Given the description of an element on the screen output the (x, y) to click on. 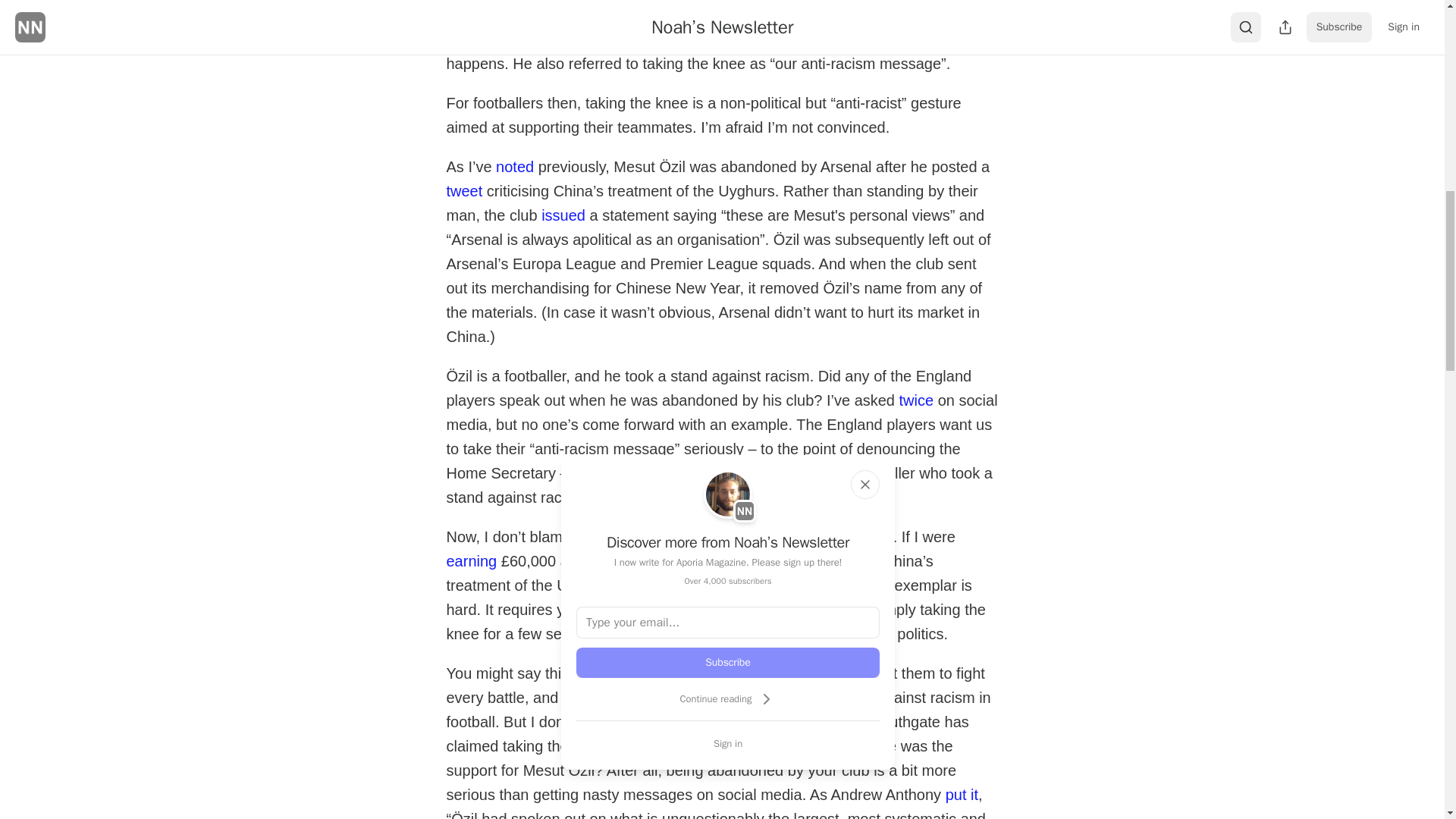
tweet (463, 190)
issued (563, 214)
Sign in (727, 743)
twice (916, 399)
earning (470, 560)
Subscribe (727, 662)
put it (961, 793)
noted (515, 166)
